Given the description of an element on the screen output the (x, y) to click on. 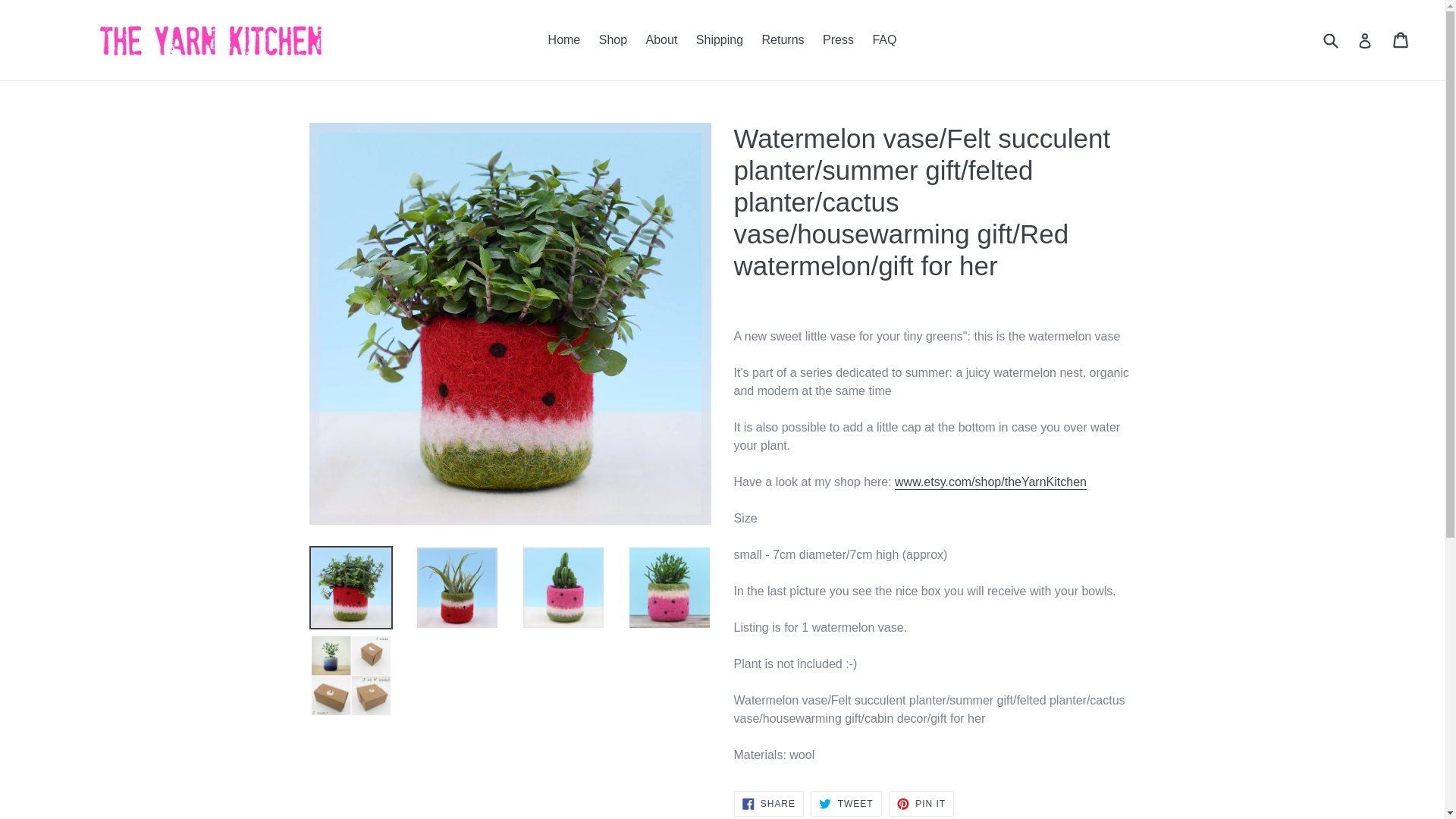
Pin on Pinterest (768, 803)
Shop (920, 803)
Shipping (920, 803)
FAQ (612, 39)
Home (719, 39)
Share on Facebook (884, 39)
About (564, 39)
Returns (768, 803)
